Given the description of an element on the screen output the (x, y) to click on. 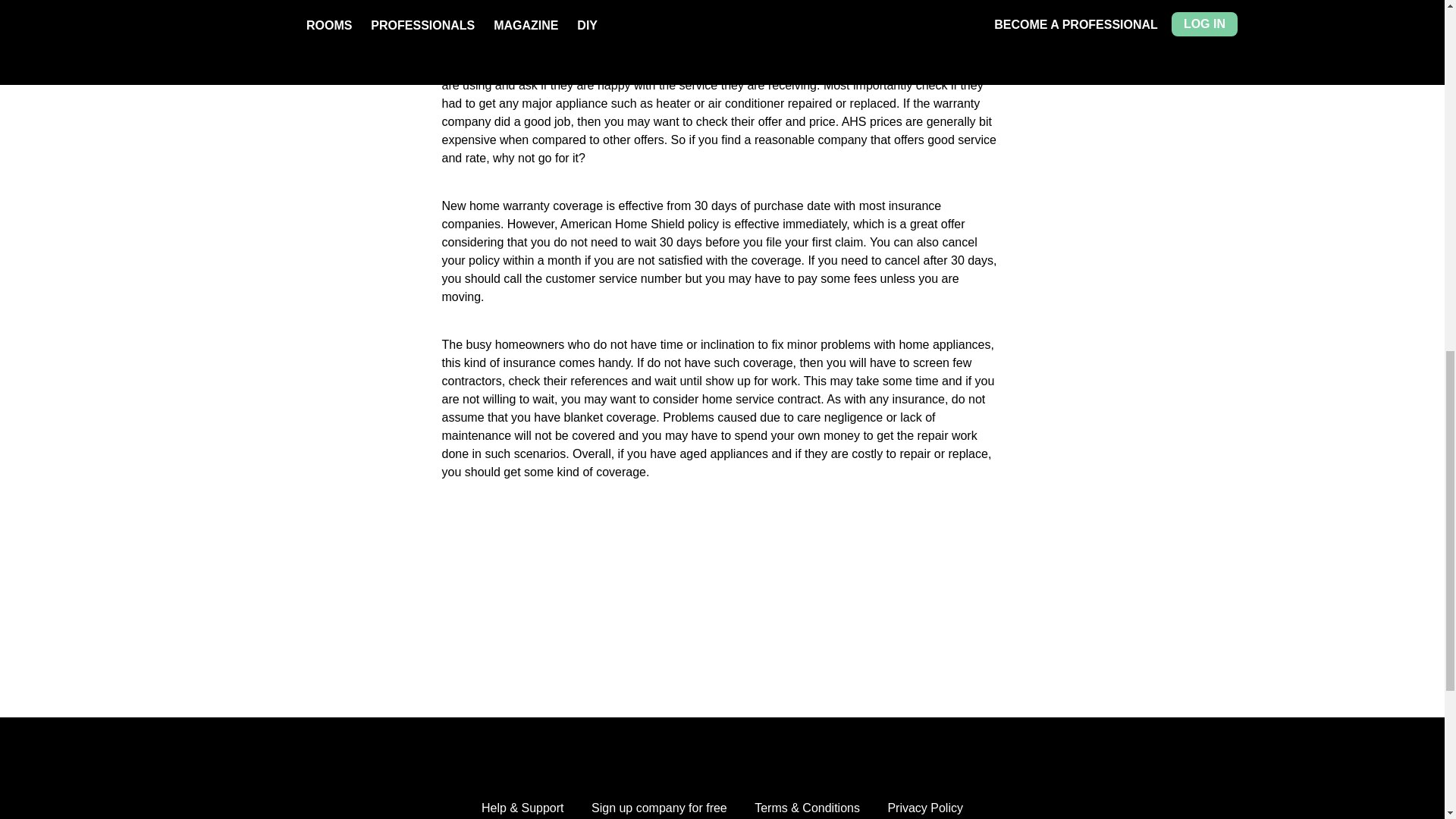
Privacy Policy (924, 808)
Sign up company for free (658, 808)
